Given the description of an element on the screen output the (x, y) to click on. 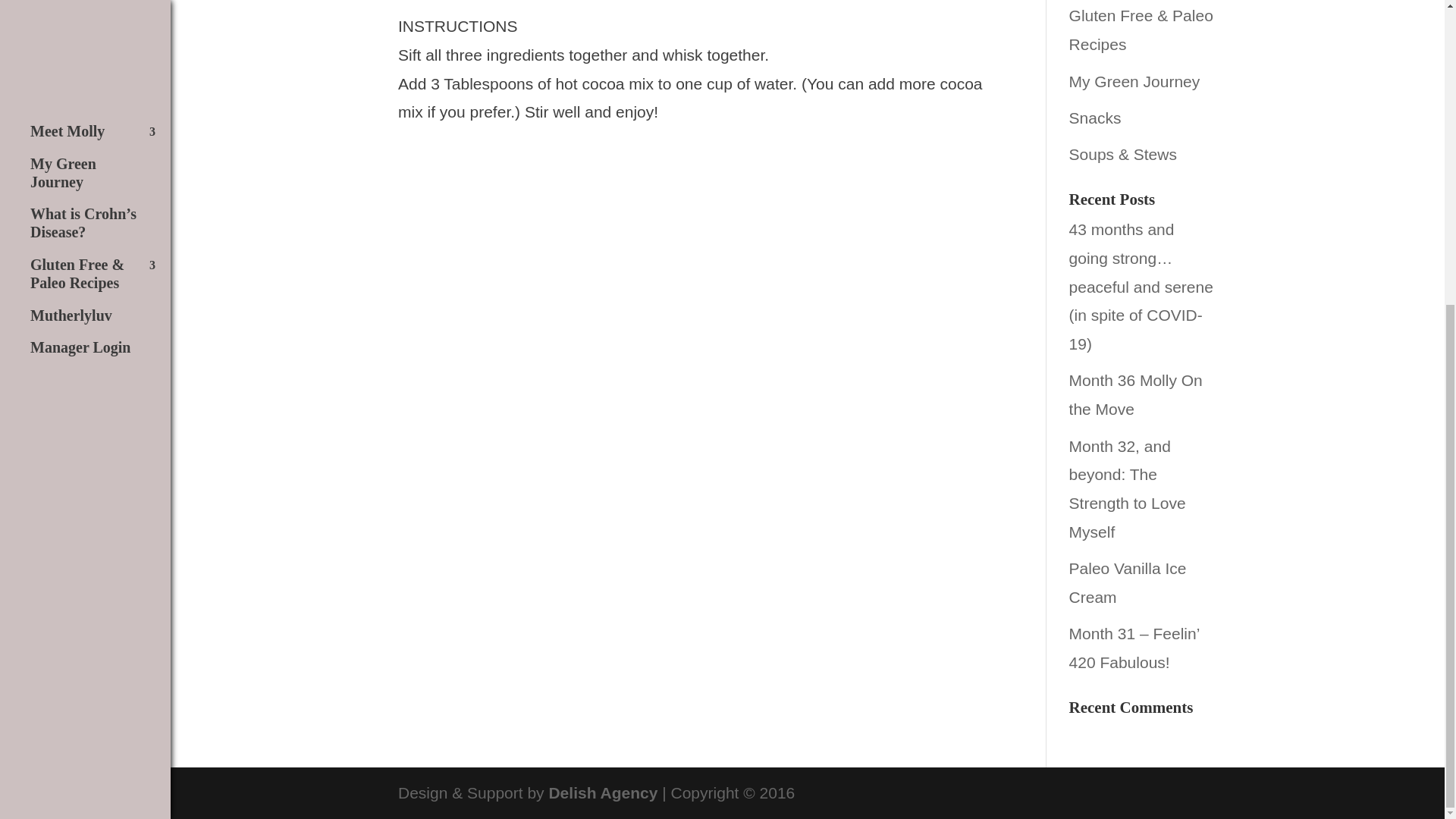
Snacks (1094, 117)
My Green Journey (1133, 81)
Delish Agency (603, 792)
